Given the description of an element on the screen output the (x, y) to click on. 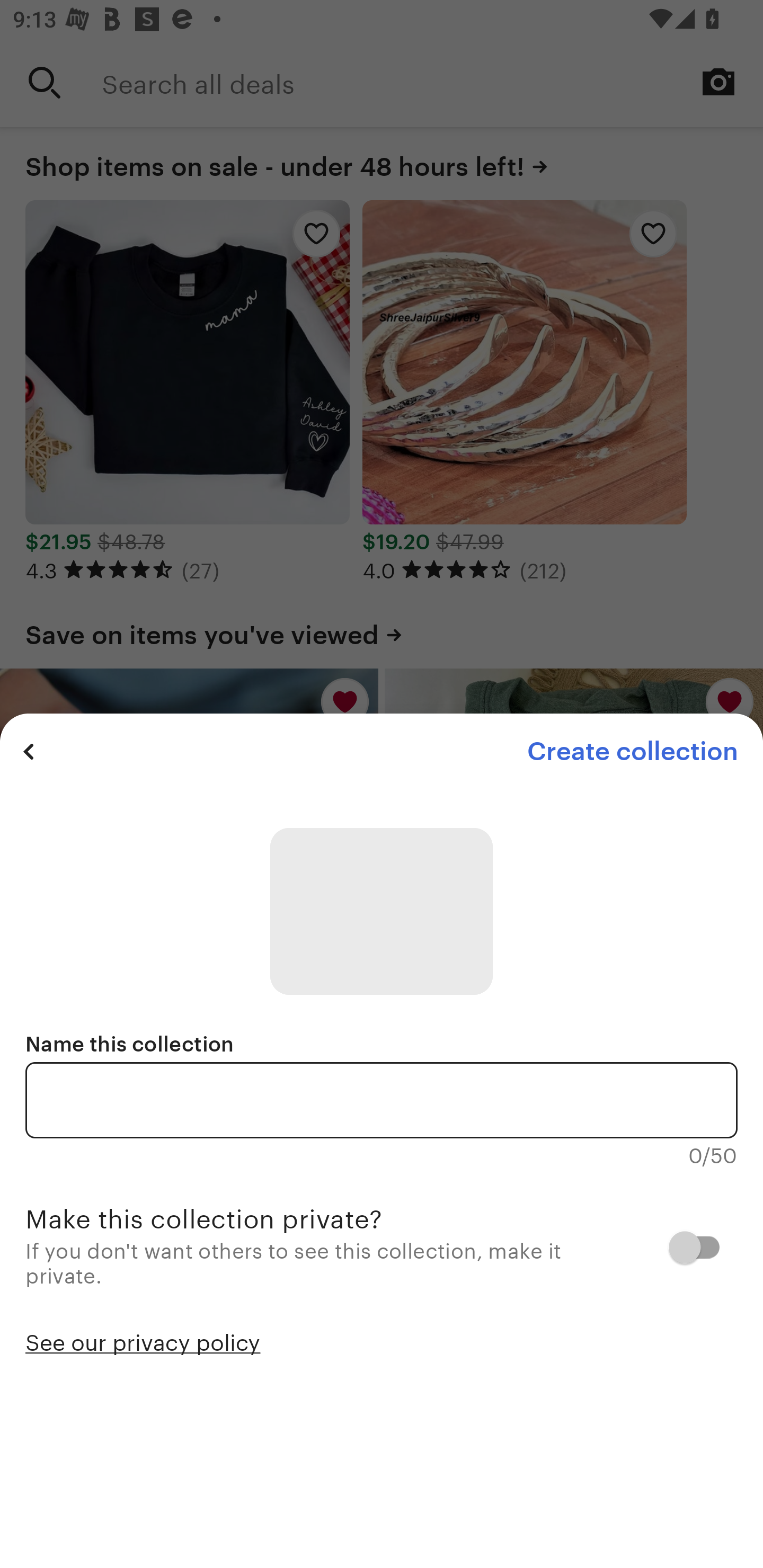
Previous (28, 751)
Create collection (632, 751)
See our privacy policy (142, 1341)
